Given the description of an element on the screen output the (x, y) to click on. 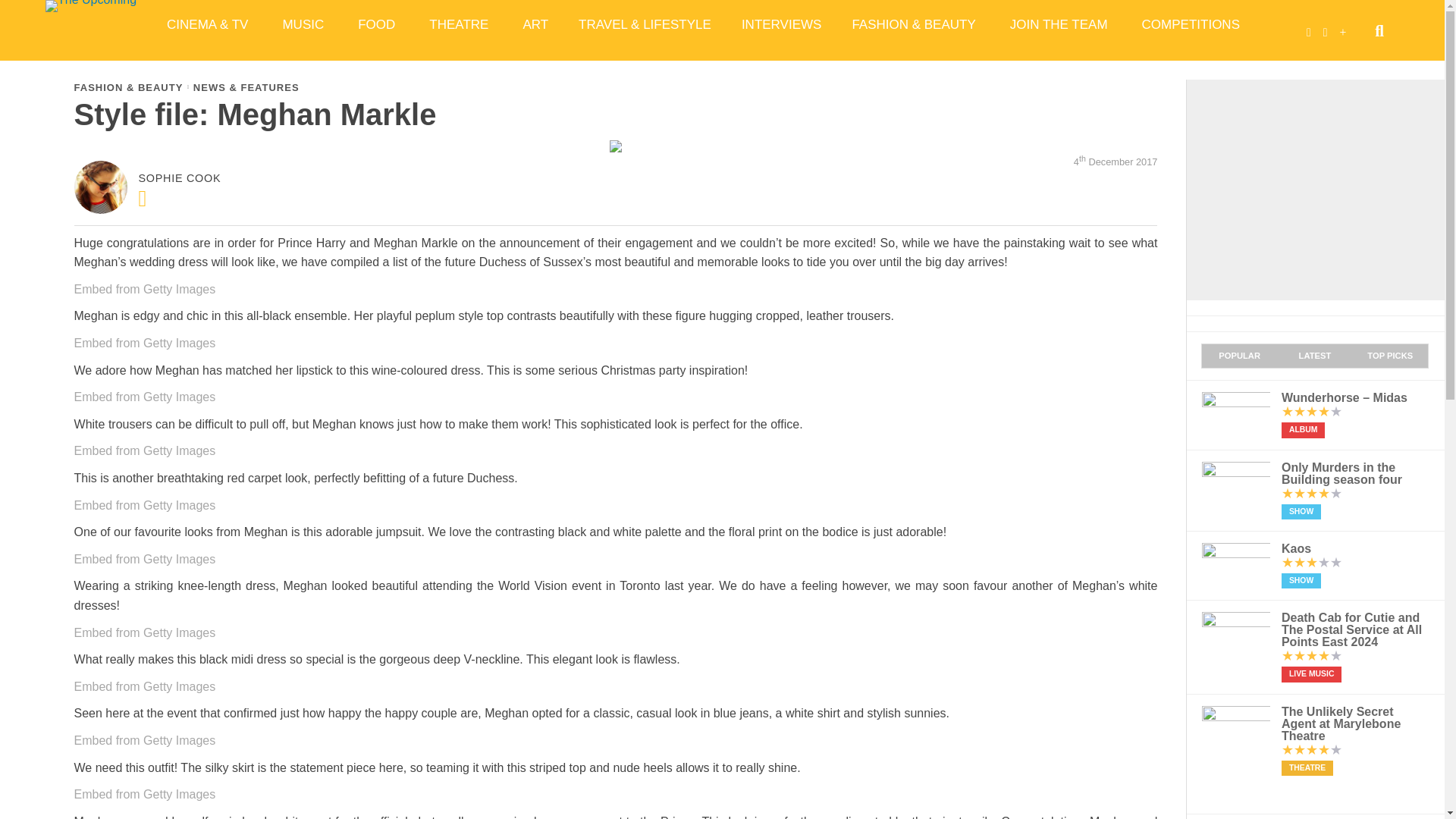
INTERVIEWS (780, 24)
THEATRE (459, 24)
MUSIC (304, 24)
JOIN THE TEAM (1060, 24)
FOOD (377, 24)
ART (534, 24)
